Given the description of an element on the screen output the (x, y) to click on. 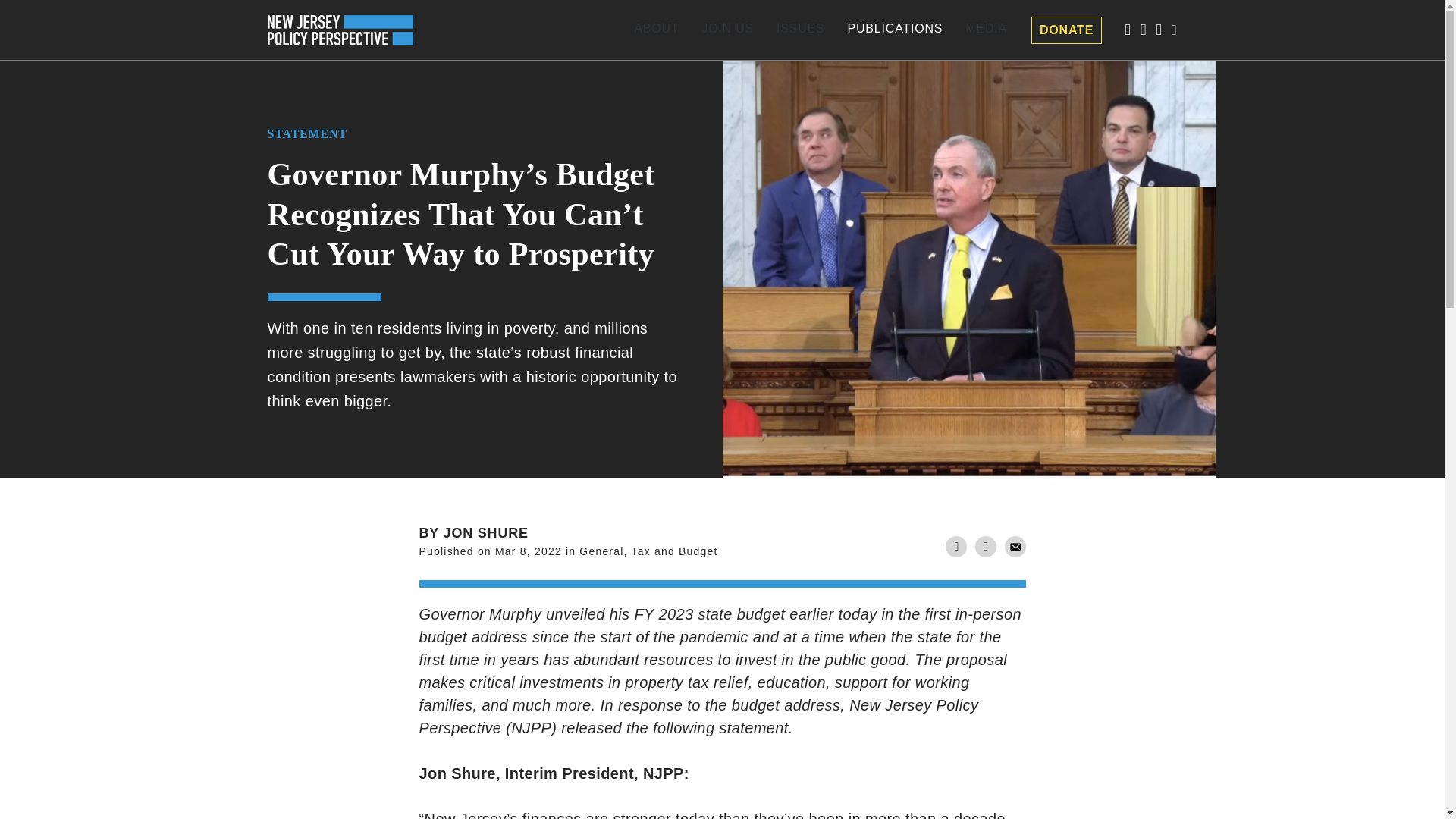
Search (50, 12)
ABOUT (656, 29)
